Given the description of an element on the screen output the (x, y) to click on. 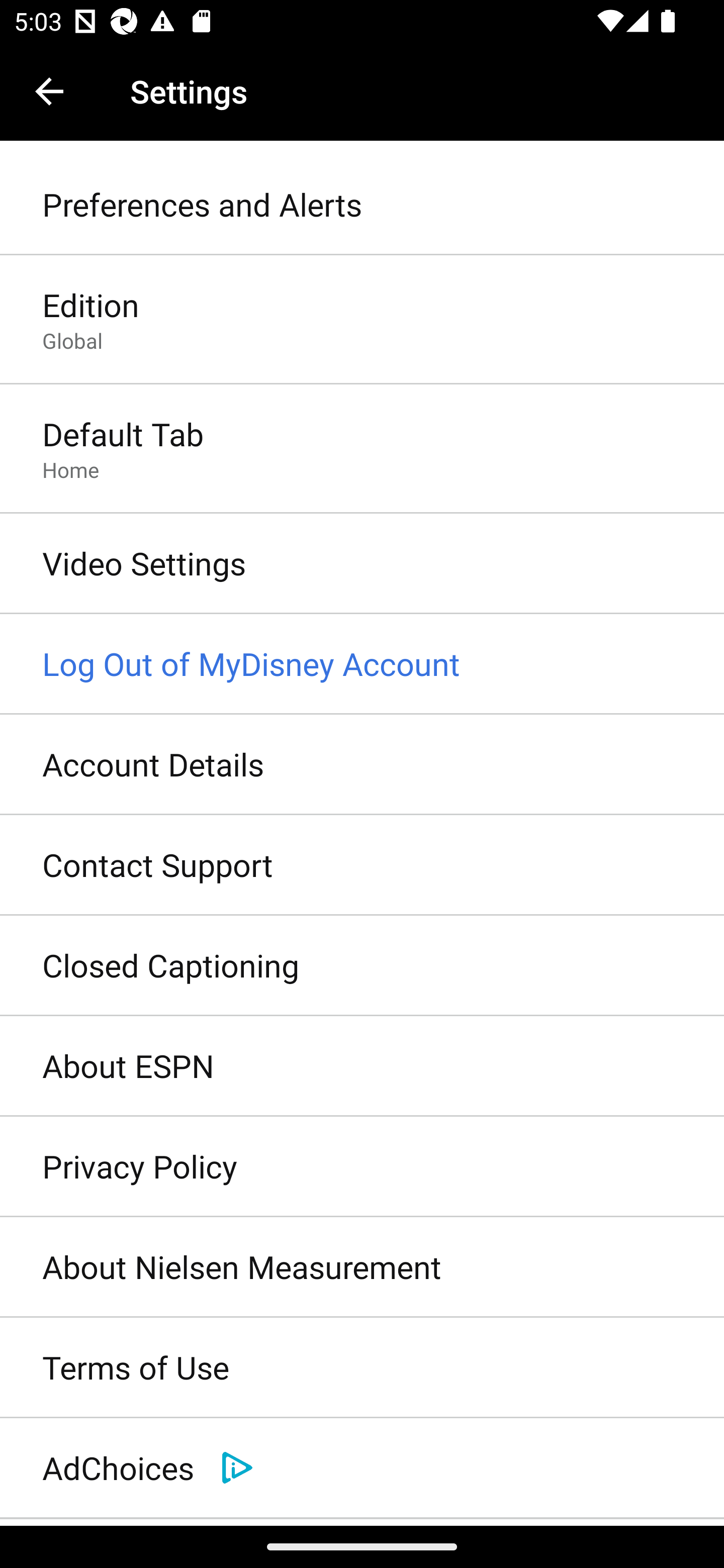
Navigate up (49, 91)
Preferences and Alerts (362, 205)
Edition Global (362, 320)
Default Tab Home (362, 449)
Video Settings (362, 564)
Log Out of MyDisney Account (362, 664)
Account Details (362, 765)
Contact Support (362, 865)
Closed Captioning (362, 965)
About ESPN (362, 1066)
Privacy Policy (362, 1167)
About Nielsen Measurement (362, 1267)
Terms of Use (362, 1368)
AdChoices (362, 1468)
